Given the description of an element on the screen output the (x, y) to click on. 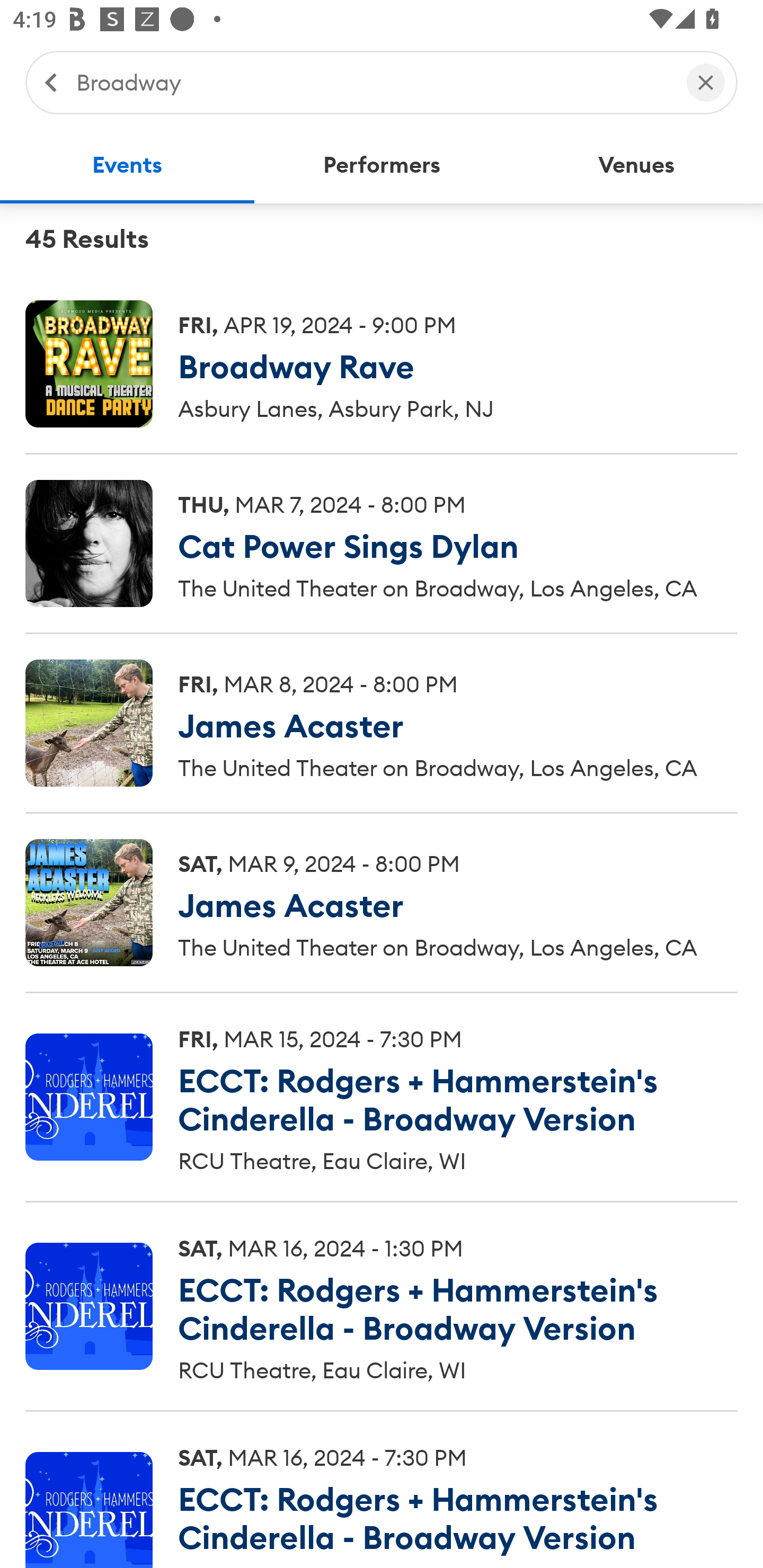
Broadway (371, 81)
Clear Search (705, 81)
Performers (381, 165)
Venues (635, 165)
